Given the description of an element on the screen output the (x, y) to click on. 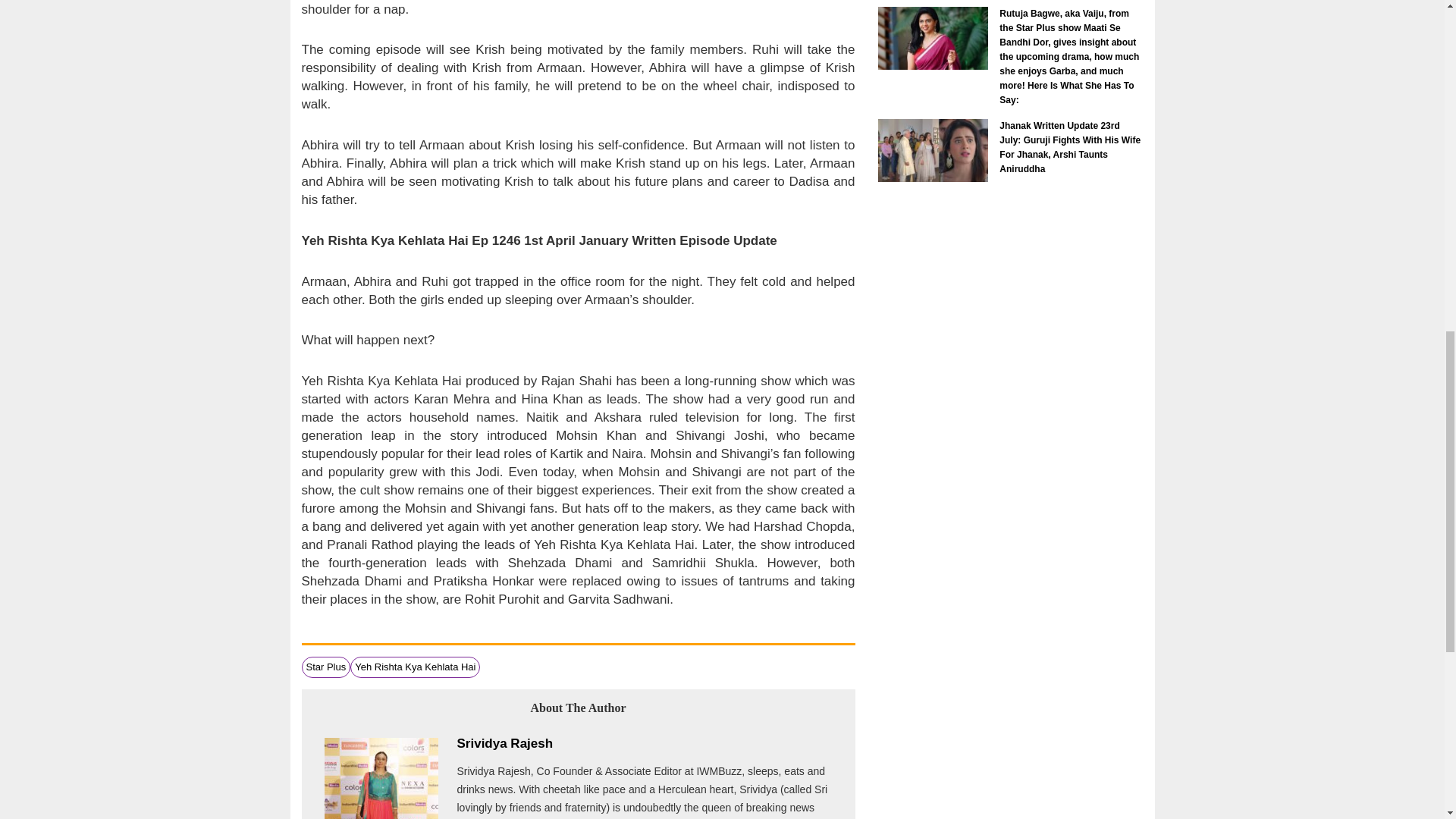
Srividya Rajesh (505, 743)
Star Plus (325, 666)
Yeh Rishta Kya Kehlata Hai (415, 666)
